Given the description of an element on the screen output the (x, y) to click on. 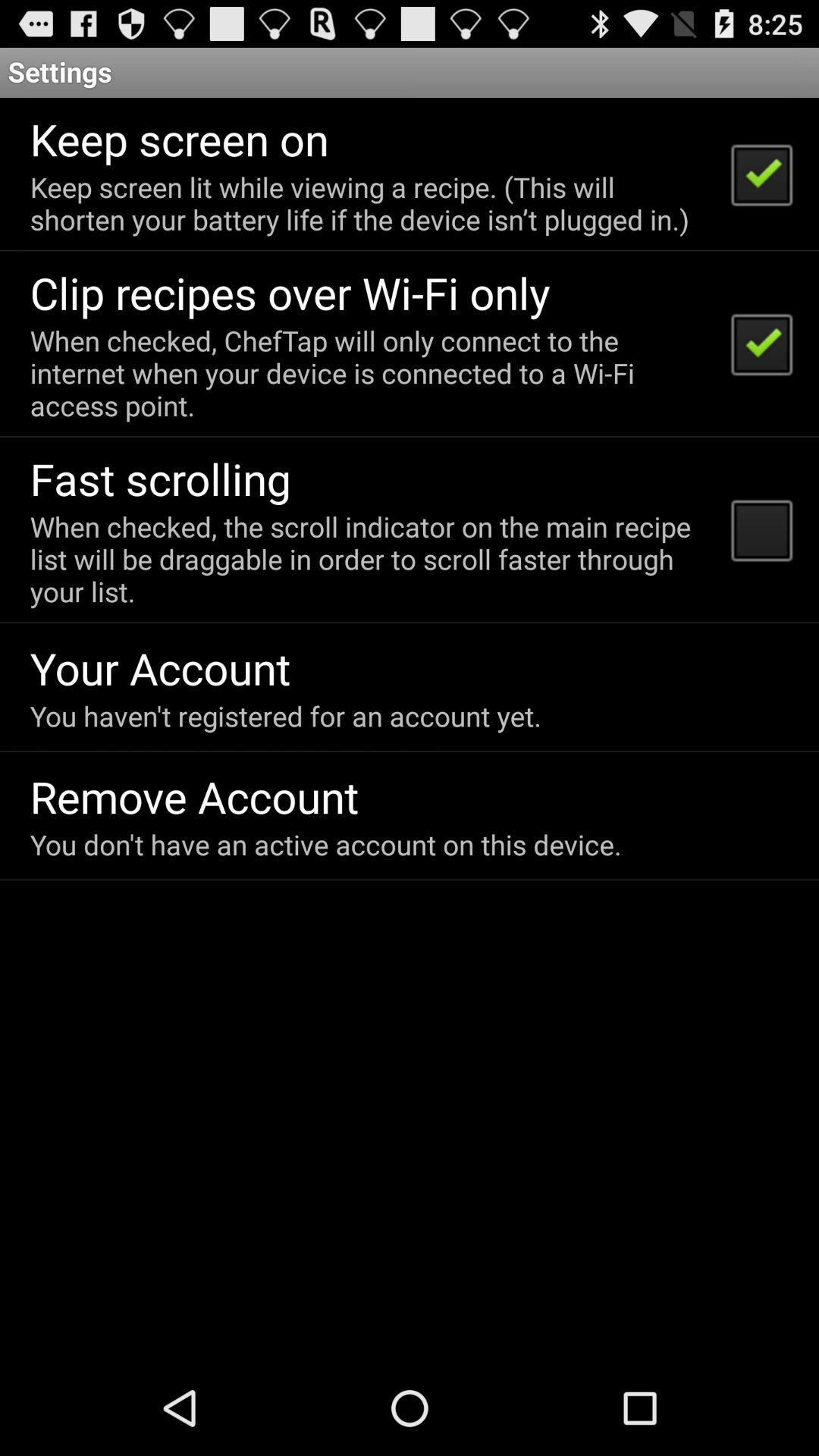
tap app above the when checked the app (160, 478)
